Given the description of an element on the screen output the (x, y) to click on. 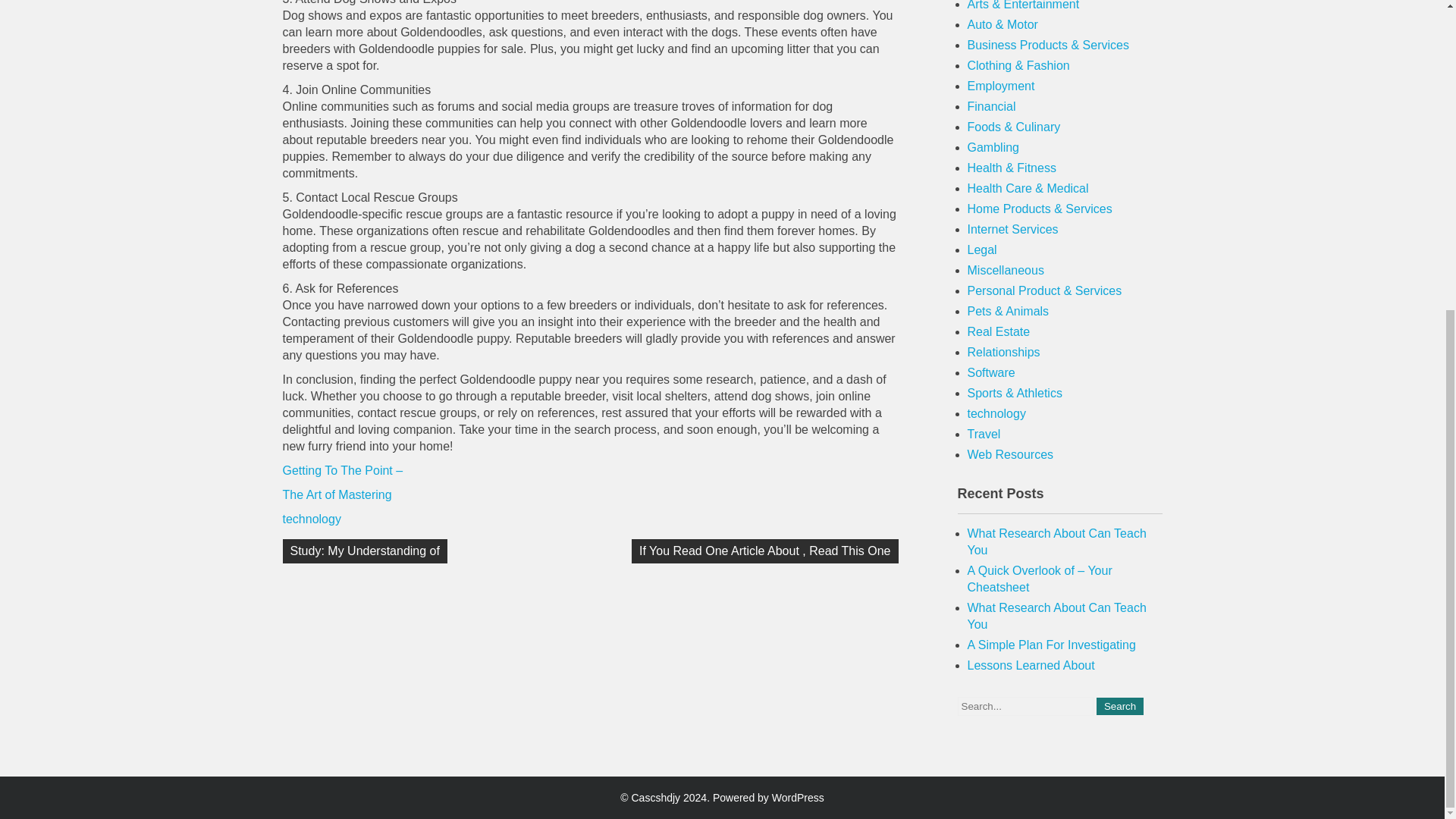
Financial (992, 106)
Gambling (993, 146)
Search (1119, 705)
technology (311, 518)
If You Read One Article About , Read This One (764, 550)
Internet Services (1013, 228)
Employment (1001, 85)
Study: My Understanding of (364, 550)
The Art of Mastering (336, 494)
Miscellaneous (1005, 269)
Search (1119, 705)
Legal (982, 249)
